Given the description of an element on the screen output the (x, y) to click on. 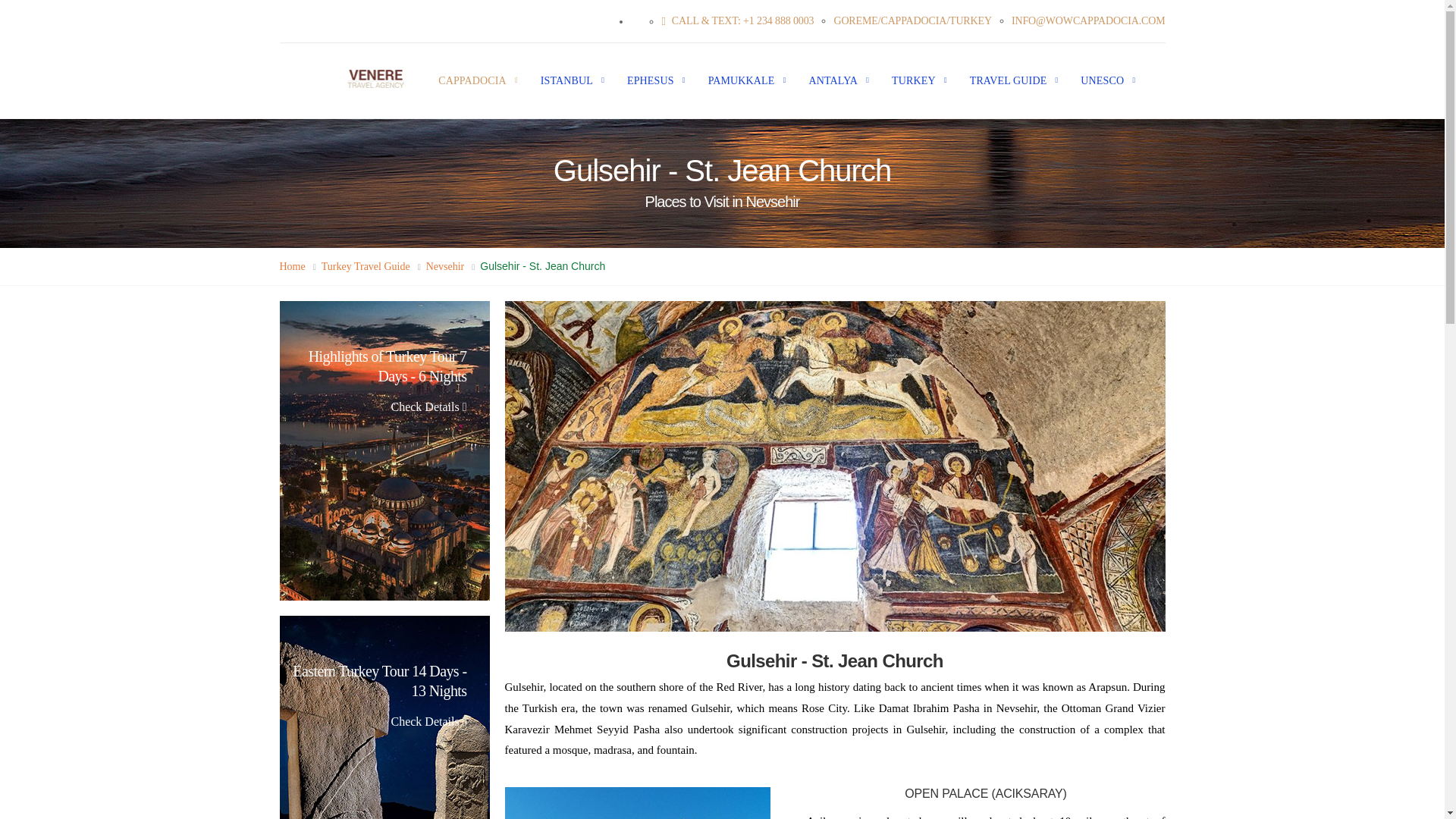
Gulsehir - St. Jean Church (637, 803)
CAPPADOCIA (466, 79)
Eastern Turkey Tour (384, 717)
Welcome to Venere Travel Website (375, 78)
